Given the description of an element on the screen output the (x, y) to click on. 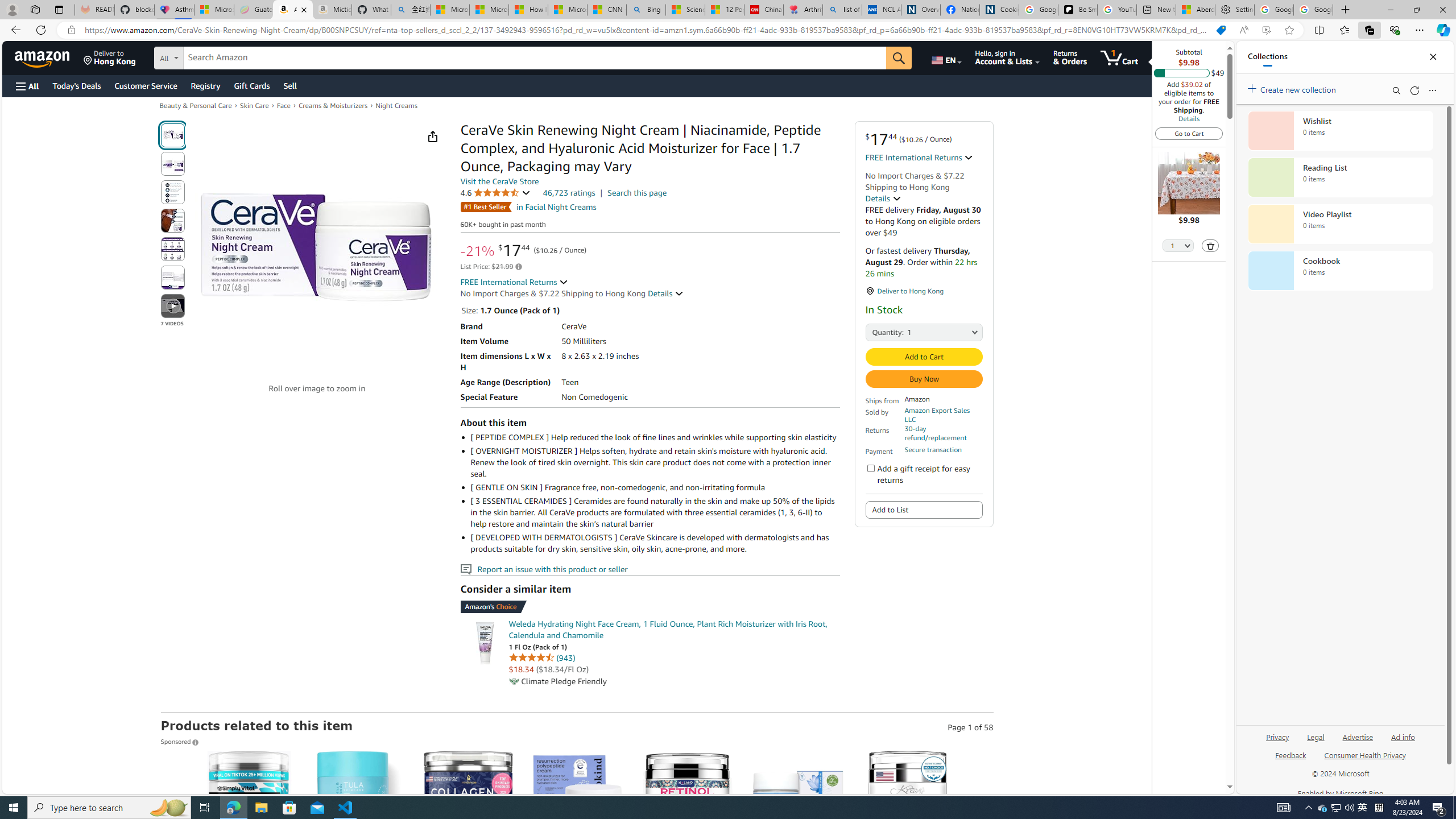
Gift Cards (251, 85)
Search this page (636, 192)
Creams & Moisturizers (333, 105)
1 item in cart (1118, 57)
Secure transaction (933, 449)
Visit the CeraVe Store (499, 181)
list of asthma inhalers uk - Search (842, 9)
